Given the description of an element on the screen output the (x, y) to click on. 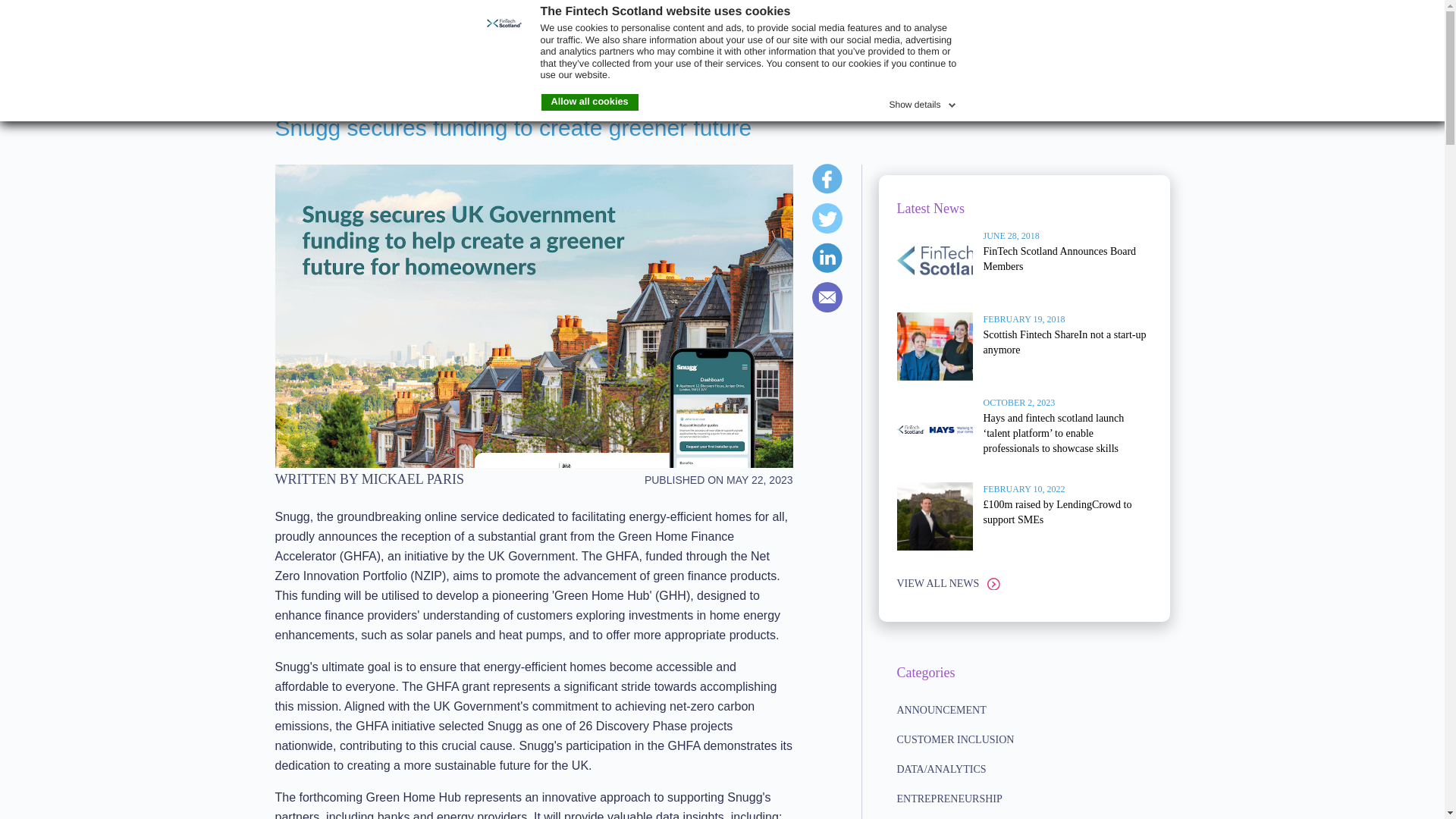
Show details (923, 102)
Allow all cookies (590, 102)
